Given the description of an element on the screen output the (x, y) to click on. 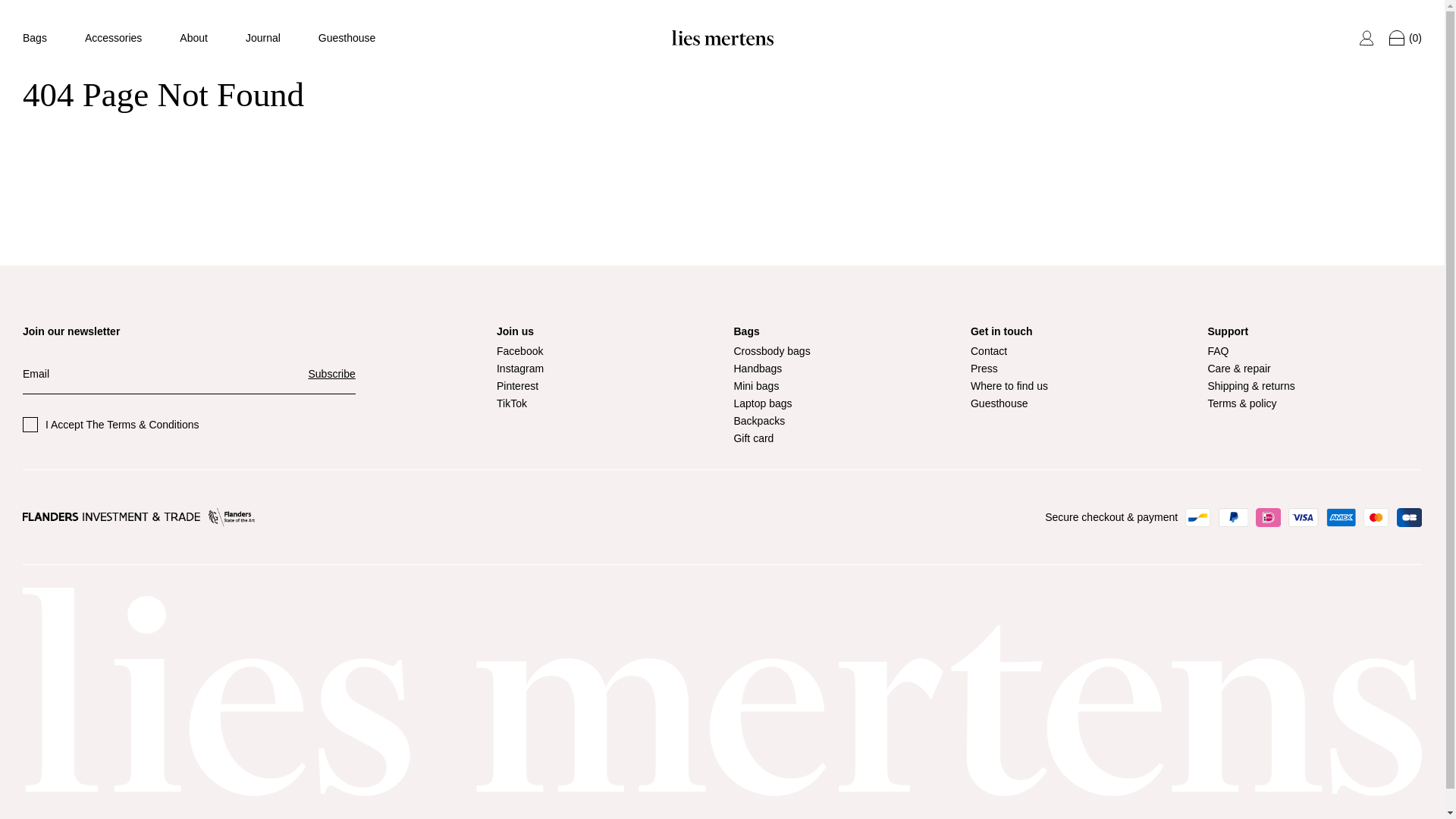
About (193, 37)
Accessories (112, 37)
Guesthouse (346, 37)
Bags (34, 37)
Journal (263, 37)
